Given the description of an element on the screen output the (x, y) to click on. 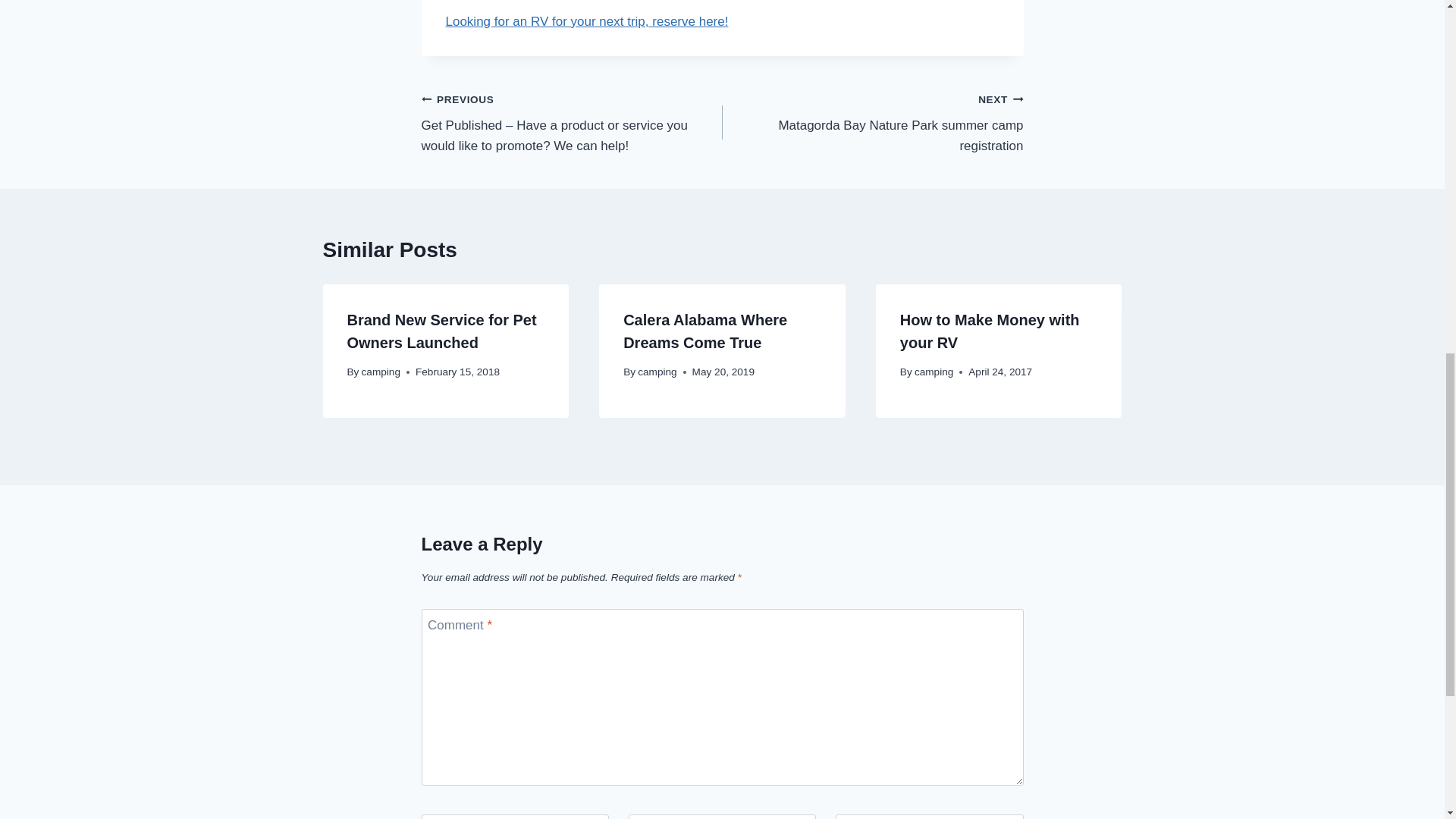
Looking for an RV for your next trip, reserve here! (587, 21)
How to Make Money with your RV (989, 331)
camping (933, 371)
camping (380, 371)
camping (657, 371)
Calera Alabama Where Dreams Come True (872, 122)
Brand New Service for Pet Owners Launched (705, 331)
